Given the description of an element on the screen output the (x, y) to click on. 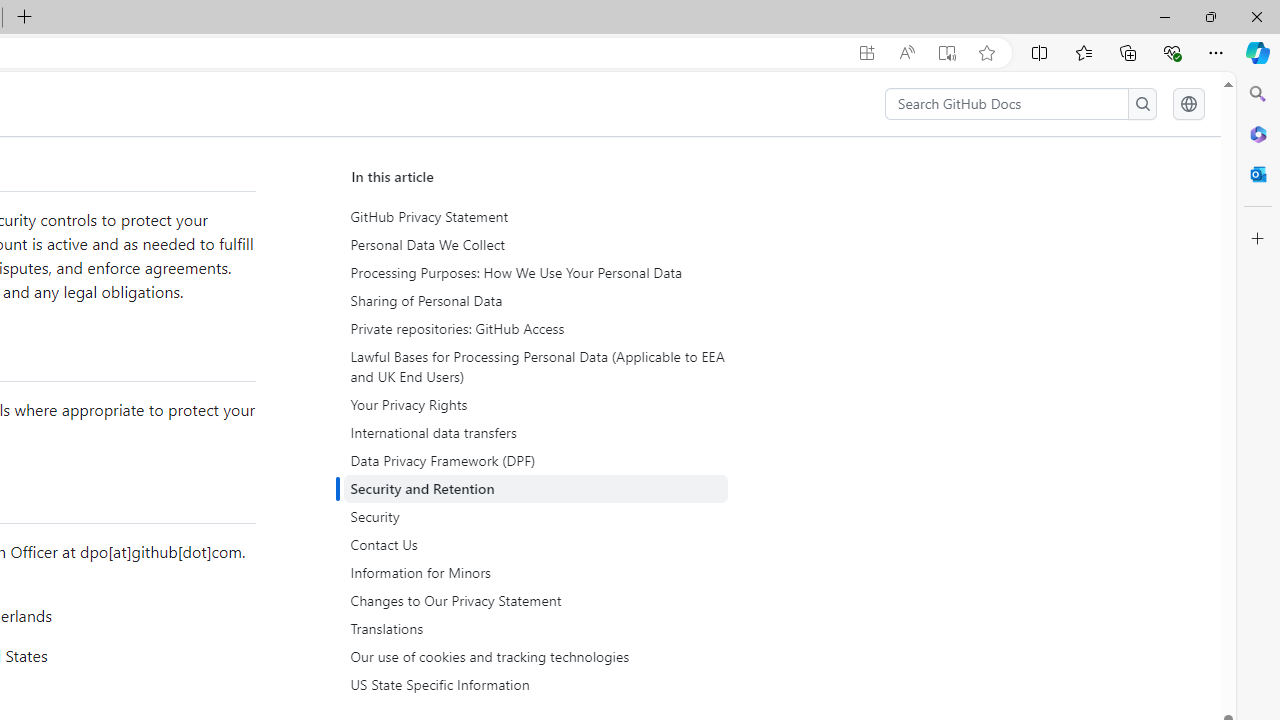
Your Privacy Rights (538, 404)
Translations (535, 628)
US State Specific Information (538, 685)
Our use of cookies and tracking technologies (535, 656)
Changes to Our Privacy Statement (535, 600)
Personal Data We Collect (538, 245)
Security (535, 517)
Your Privacy Rights (535, 404)
Personal Data We Collect (535, 245)
